Given the description of an element on the screen output the (x, y) to click on. 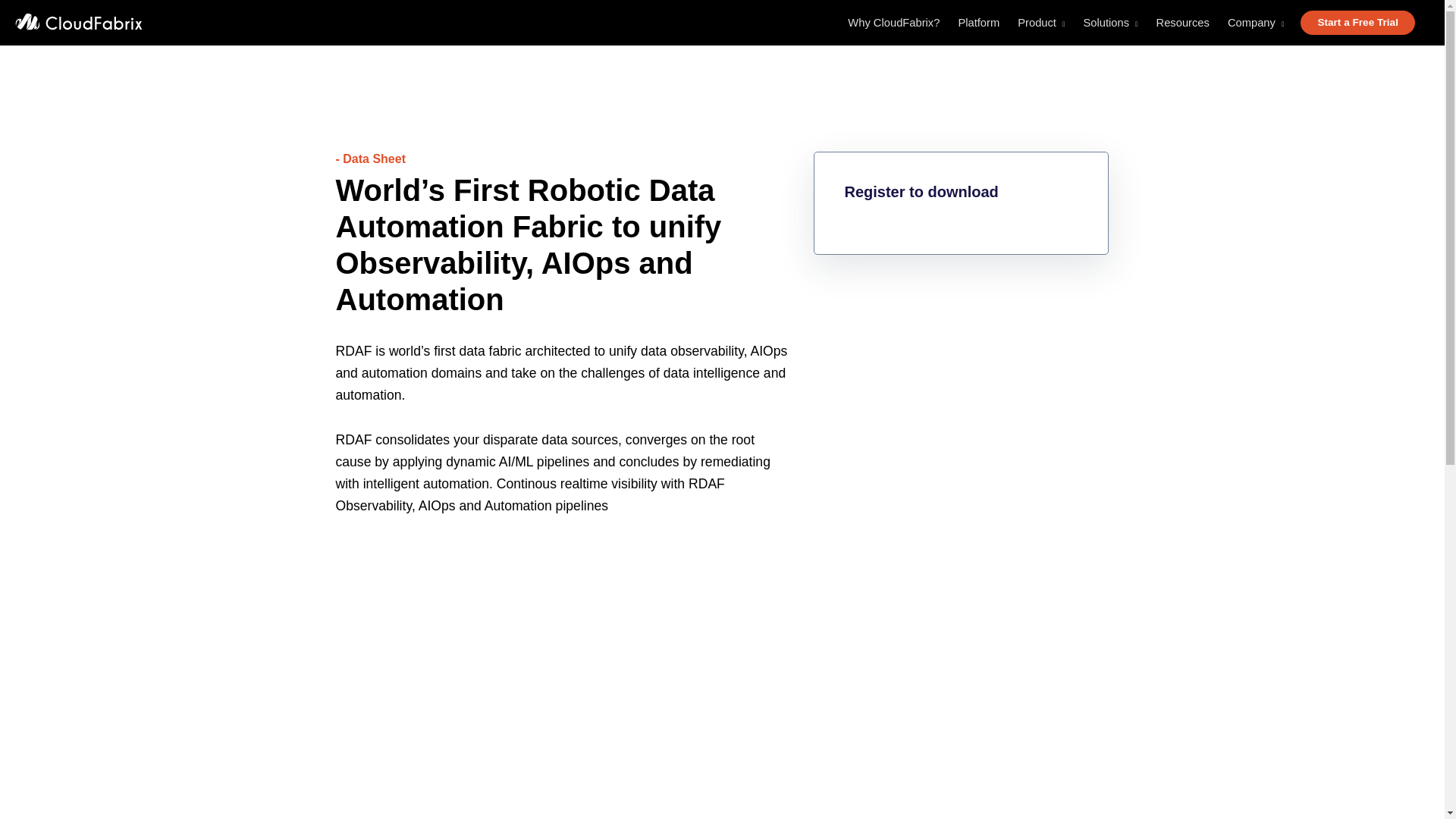
Company (1255, 25)
Product (1040, 25)
Why CloudFabrix? (892, 25)
Resources (1182, 25)
Solutions (1109, 25)
